Given the description of an element on the screen output the (x, y) to click on. 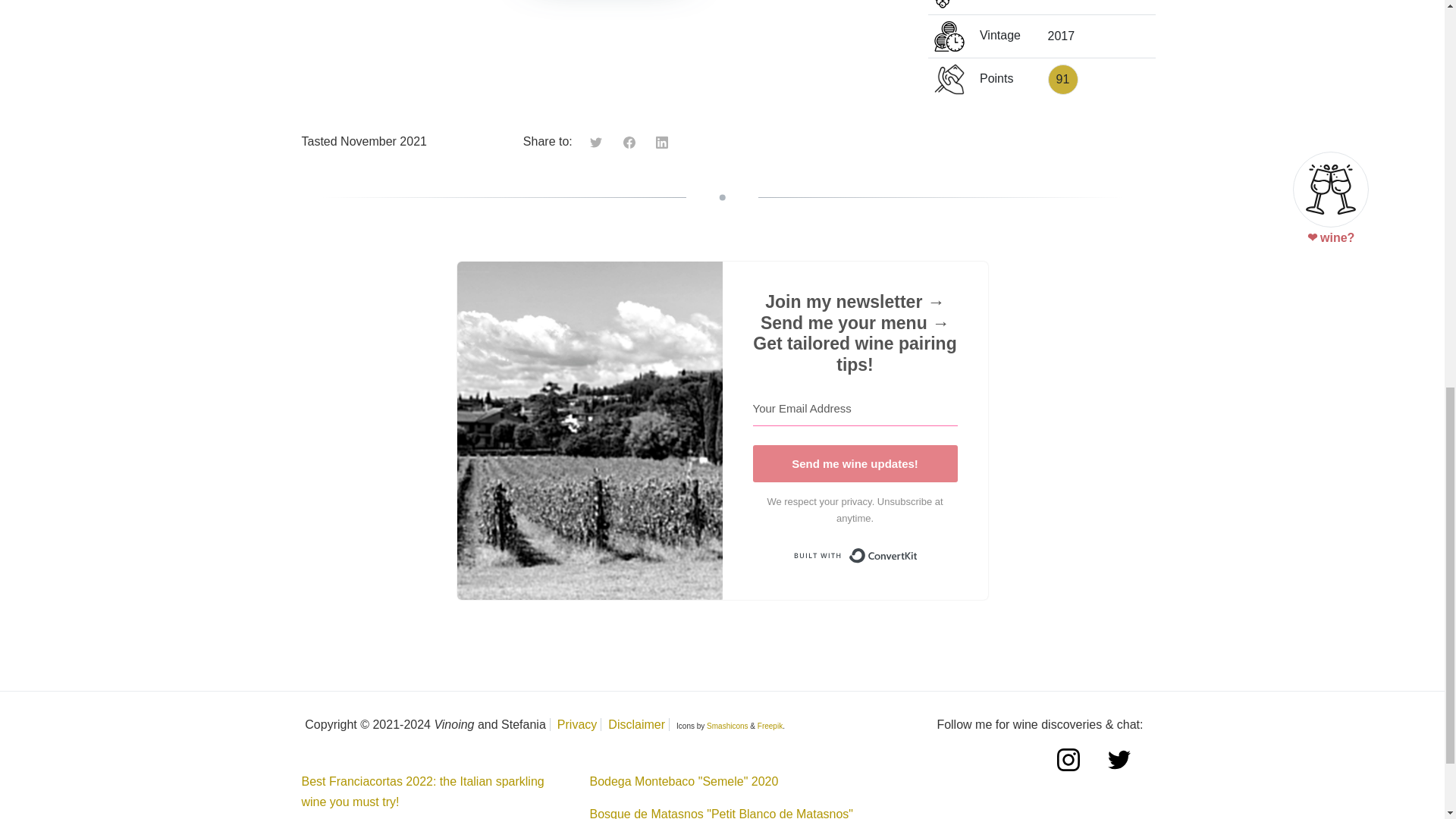
Freepik (770, 725)
Bosque de Matasnos "Petit Blanco de Matasnos" 2021 (721, 813)
Twitter icon (595, 142)
Privacy (576, 724)
Smashicons (727, 725)
Facebook icon (631, 141)
Twitter icon (597, 141)
Built with ConvertKit (854, 555)
Bodega Montebaco "Semele" 2020 (683, 780)
Send me wine updates! (854, 464)
